Given the description of an element on the screen output the (x, y) to click on. 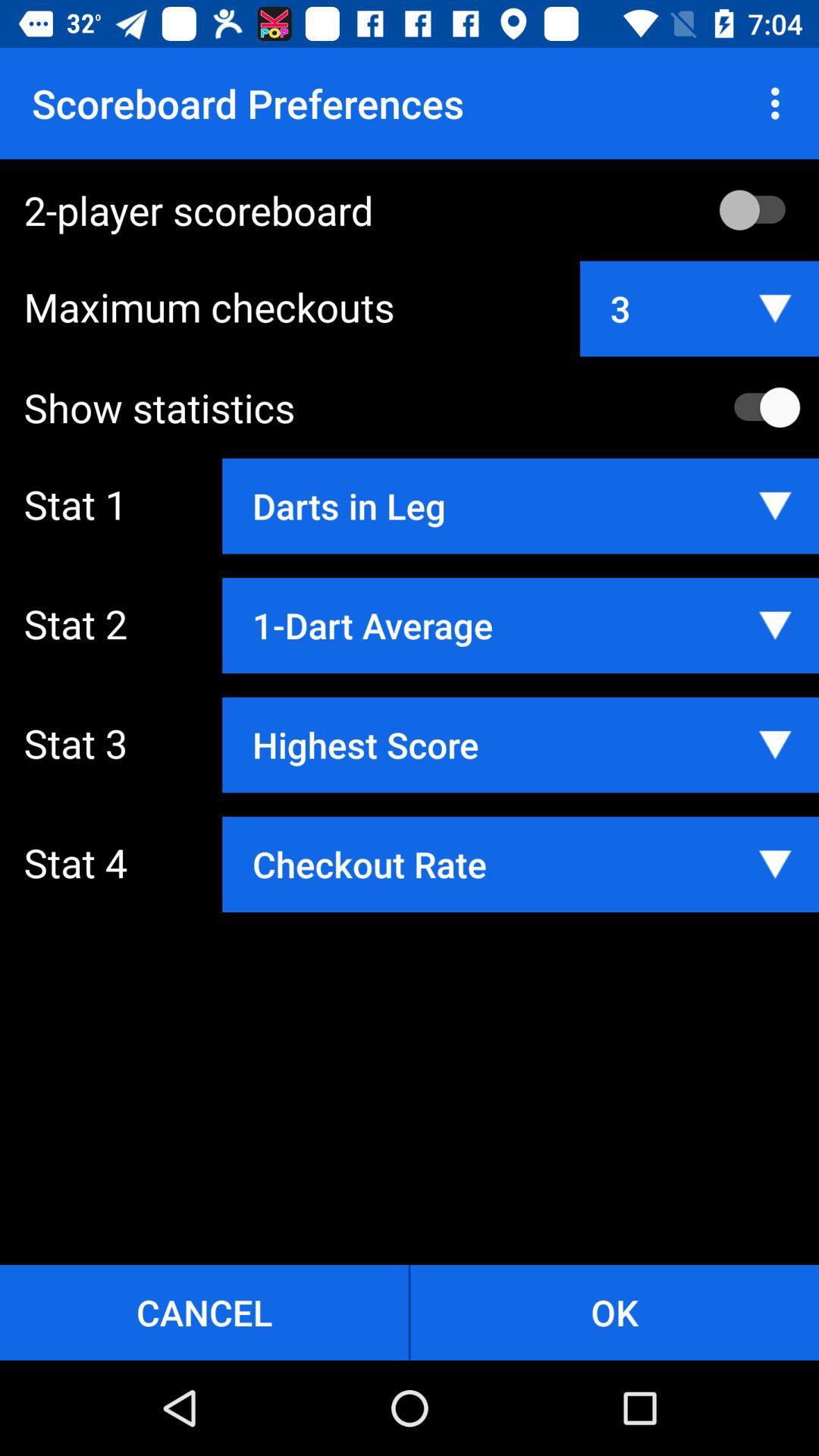
select item to the right of the stat 4 (520, 864)
